Given the description of an element on the screen output the (x, y) to click on. 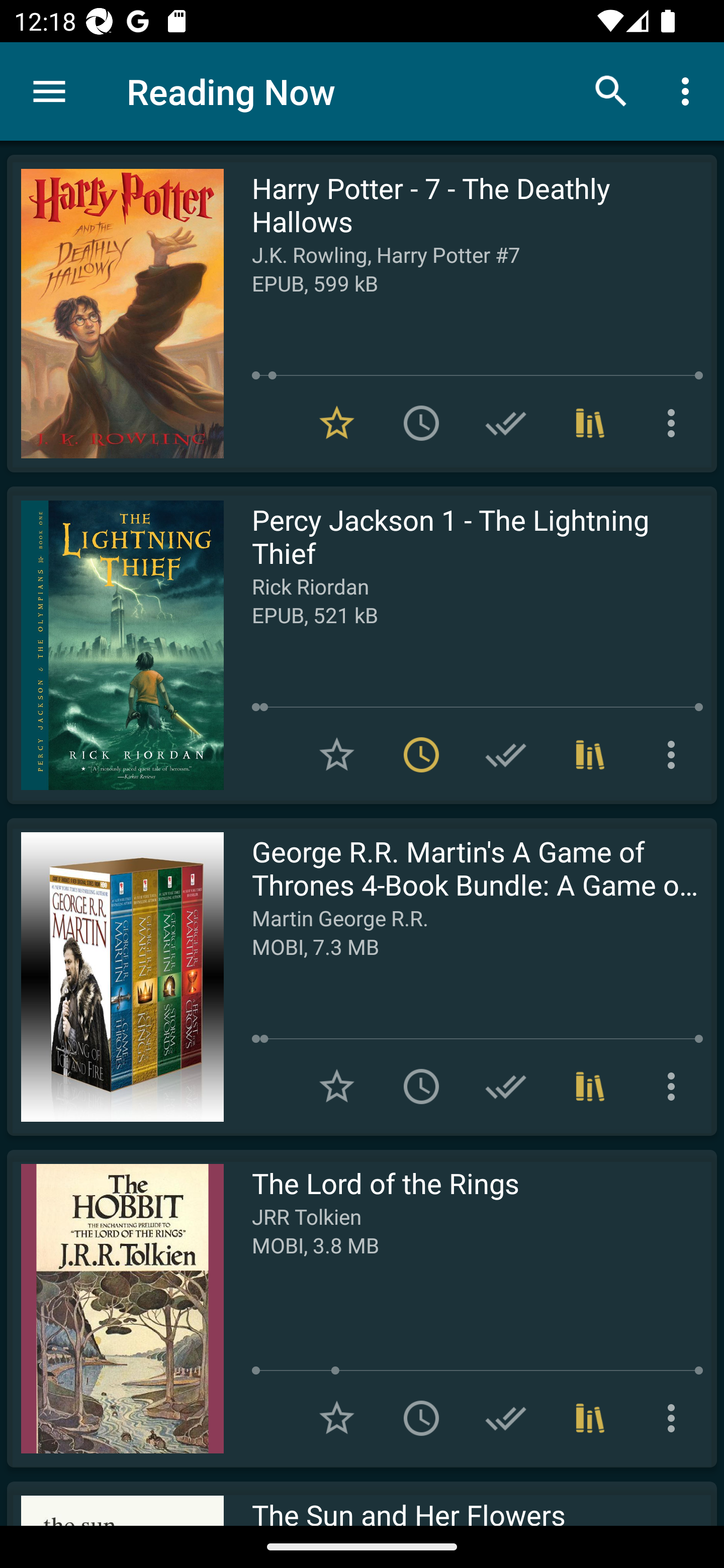
Menu (49, 91)
Search books & documents (611, 90)
More options (688, 90)
Read Harry Potter - 7 - The Deathly Hallows (115, 313)
Remove from Favorites (336, 423)
Add to To read (421, 423)
Add to Have read (505, 423)
Collections (1) (590, 423)
More options (674, 423)
Read Percy Jackson 1 - The Lightning Thief (115, 645)
Add to Favorites (336, 753)
Remove from To read (421, 753)
Add to Have read (505, 753)
Collections (1) (590, 753)
More options (674, 753)
Add to Favorites (336, 1086)
Add to To read (421, 1086)
Add to Have read (505, 1086)
Collections (1) (590, 1086)
More options (674, 1086)
Read The Lord of the Rings (115, 1308)
Add to Favorites (336, 1417)
Add to To read (421, 1417)
Add to Have read (505, 1417)
Collections (1) (590, 1417)
More options (674, 1417)
